Given the description of an element on the screen output the (x, y) to click on. 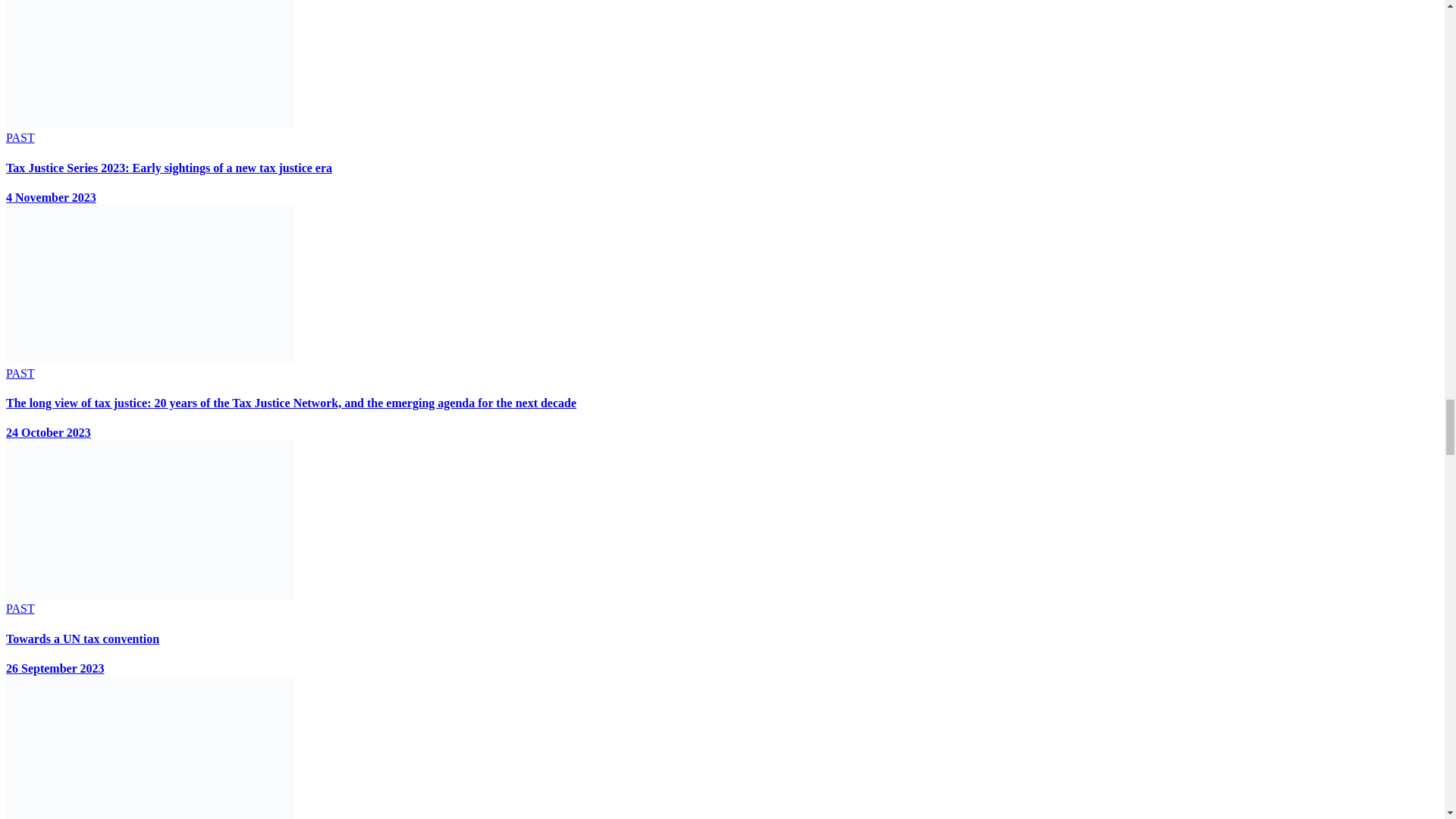
20 years blue (149, 283)
